Given the description of an element on the screen output the (x, y) to click on. 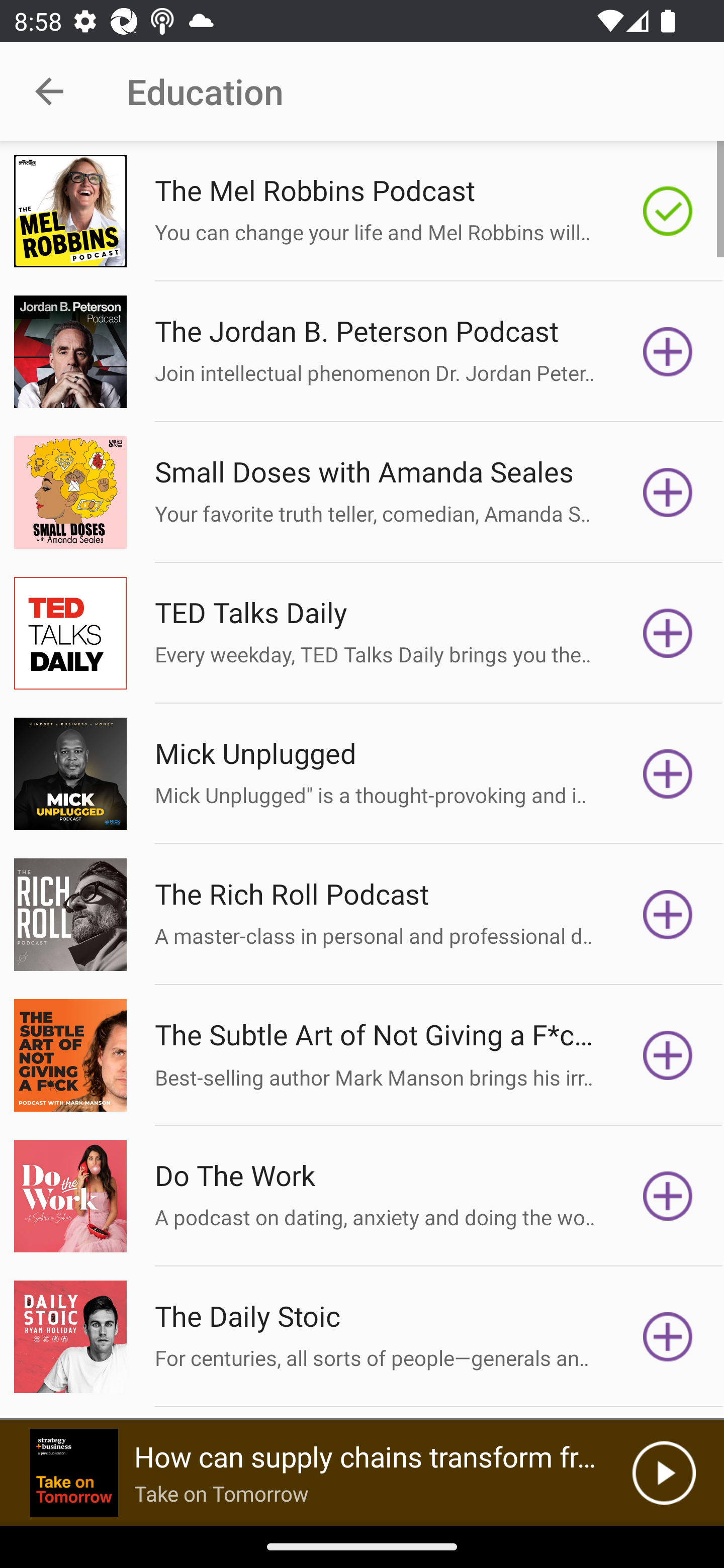
Navigate up (49, 91)
Subscribed (667, 211)
Subscribe (667, 350)
Subscribe (667, 491)
Subscribe (667, 633)
Subscribe (667, 773)
Subscribe (667, 913)
Subscribe (667, 1054)
Subscribe (667, 1195)
Subscribe (667, 1336)
Play (663, 1472)
